Given the description of an element on the screen output the (x, y) to click on. 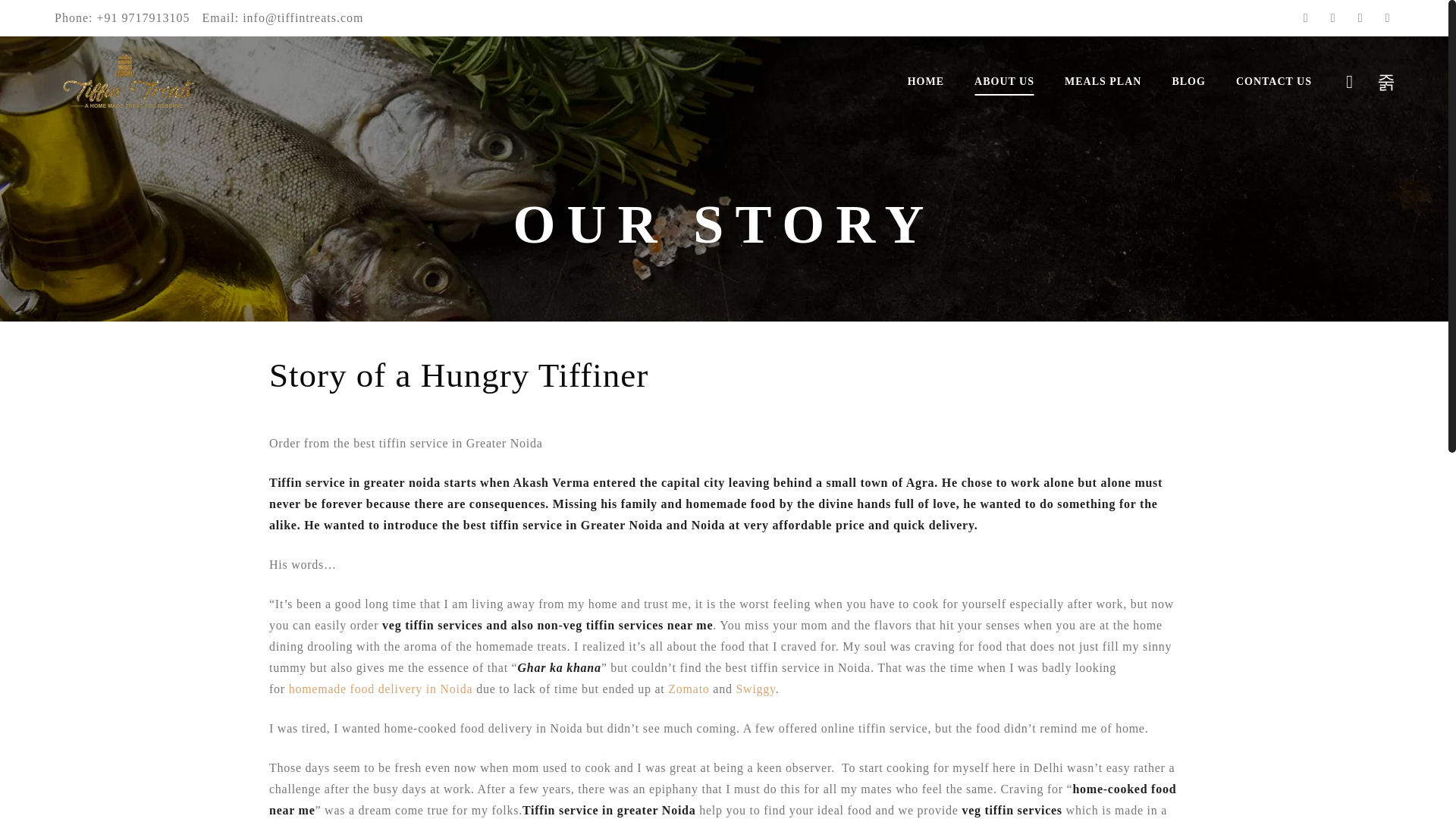
twitter (1332, 17)
facebook (1305, 17)
pinterest (1360, 17)
Tiffin Treats (130, 81)
instagram (1387, 17)
